Given the description of an element on the screen output the (x, y) to click on. 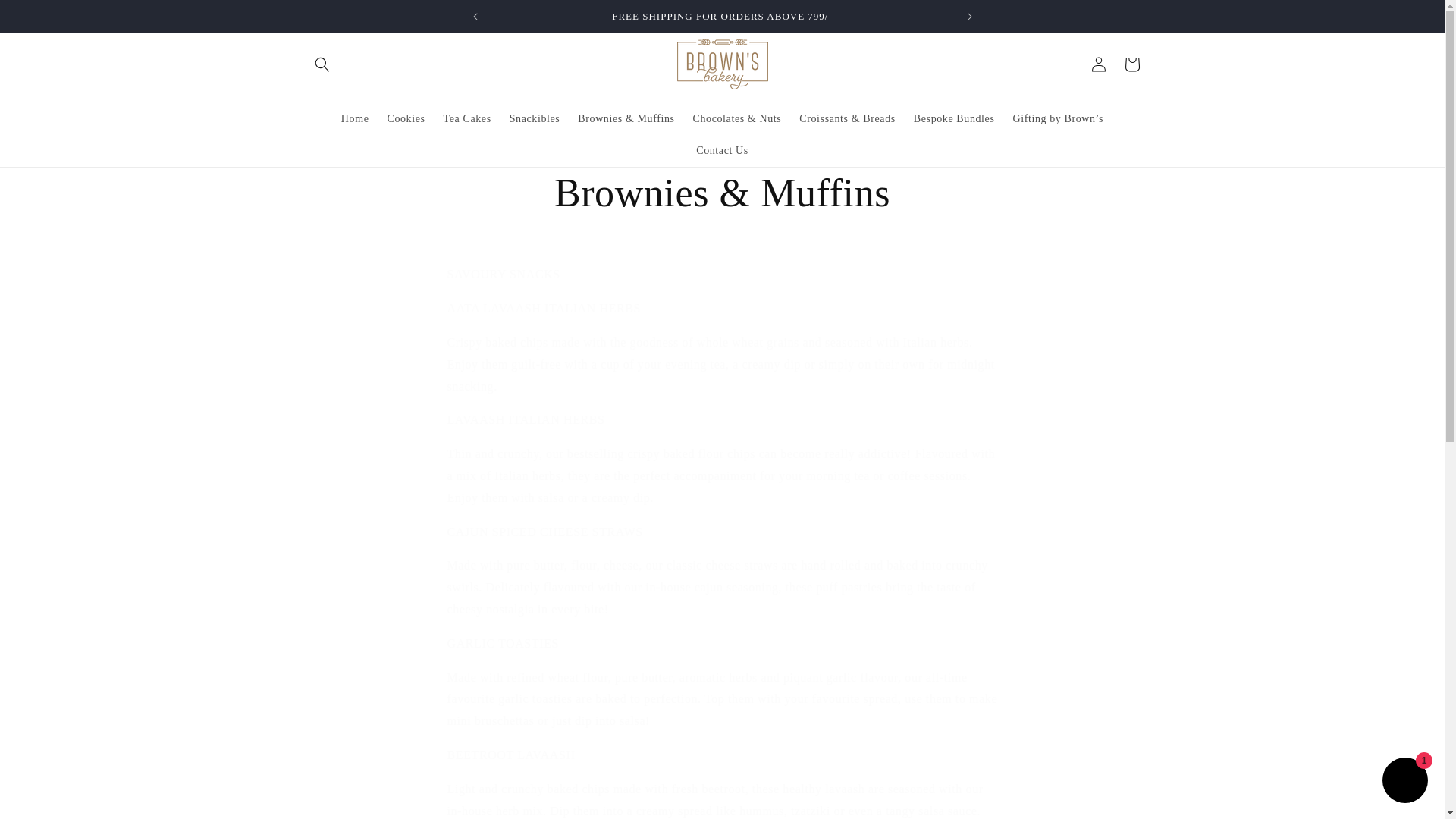
Contact Us (722, 151)
Cart (1131, 63)
Home (354, 119)
Log in (1098, 63)
Shopify online store chat (1404, 781)
Snackibles (534, 119)
Bespoke Bundles (954, 119)
Tea Cakes (466, 119)
Cookies (405, 119)
Skip to content (45, 17)
